Given the description of an element on the screen output the (x, y) to click on. 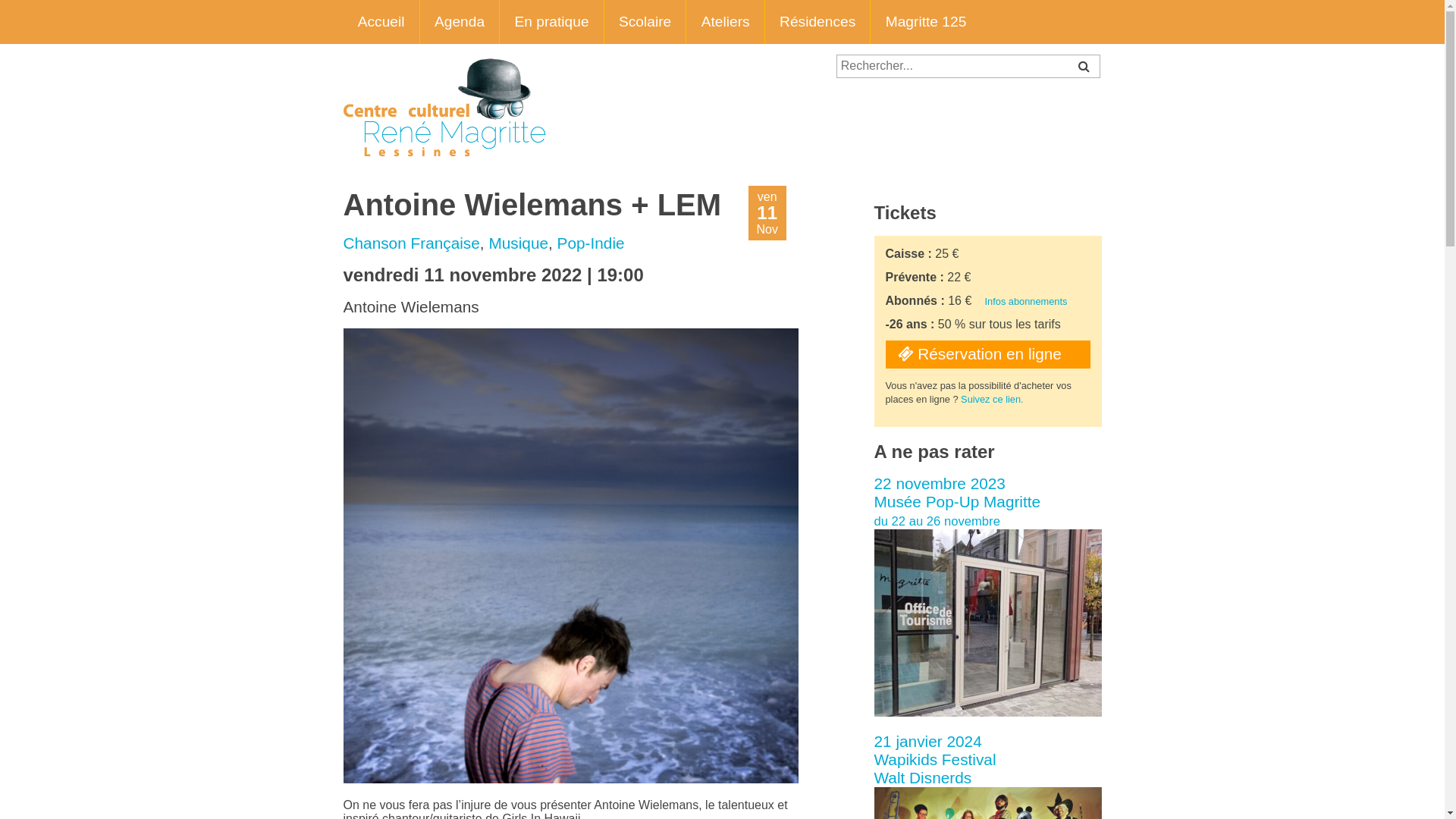
Suivez ce lien. Element type: text (991, 398)
En pratique Element type: text (551, 21)
Ateliers Element type: text (725, 21)
Infos abonnements Element type: text (1026, 301)
Magritte 125 Element type: text (925, 21)
Accueil Element type: text (380, 21)
Scolaire Element type: text (645, 21)
Agenda Element type: text (460, 21)
Pop-Indie Element type: text (590, 242)
Musique Element type: text (518, 242)
Rechercher... Element type: text (967, 66)
